Given the description of an element on the screen output the (x, y) to click on. 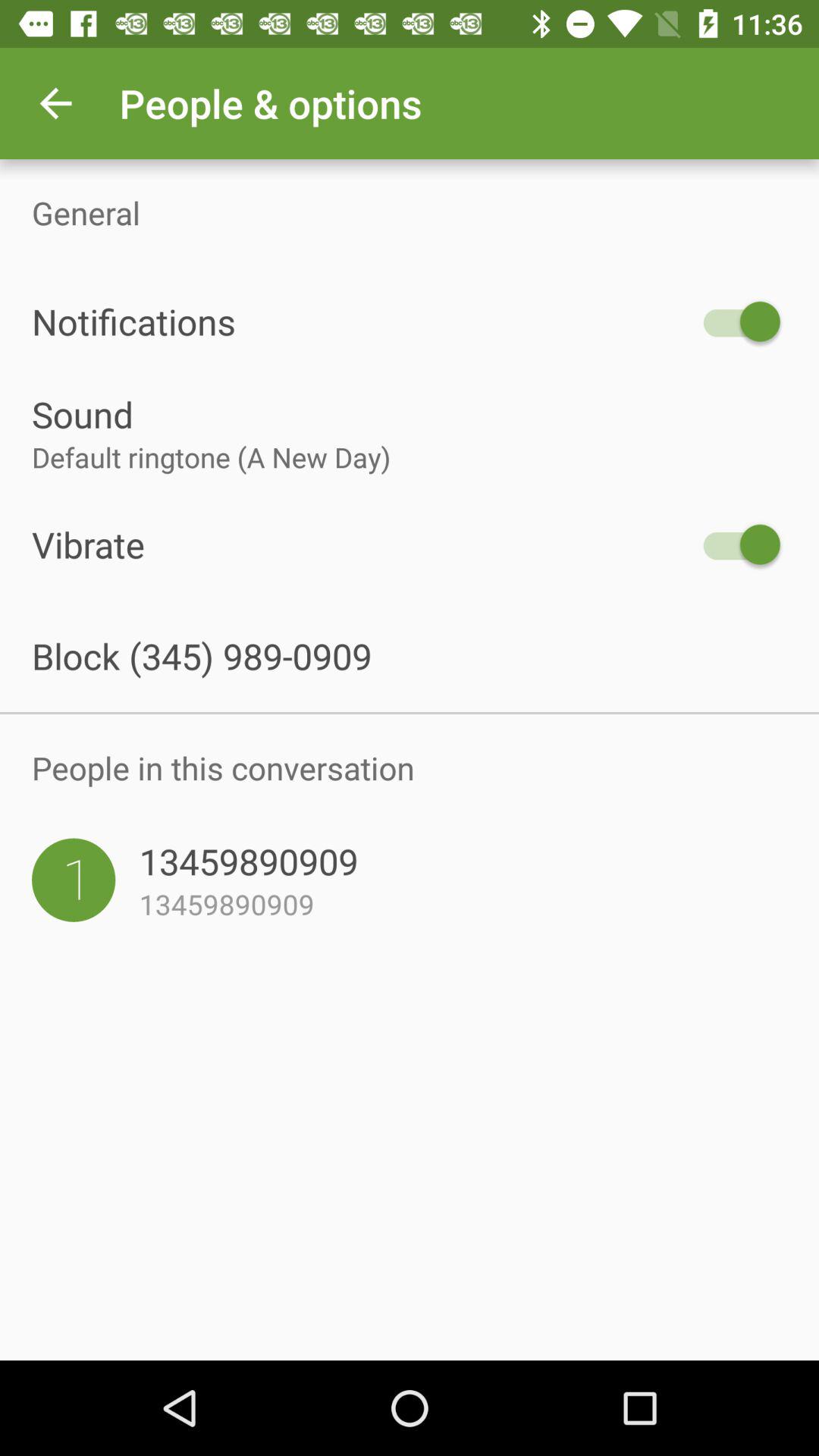
turn on icon next to the 13459890909 item (73, 879)
